Given the description of an element on the screen output the (x, y) to click on. 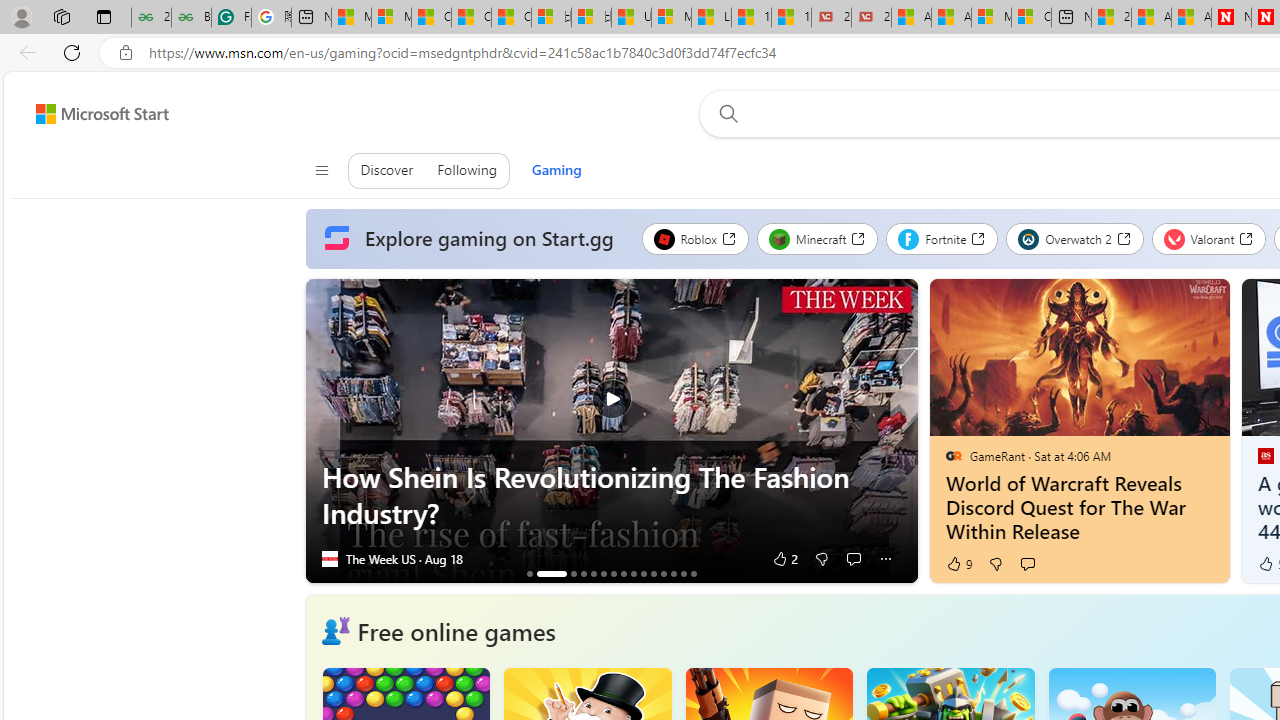
KingdomScape - Gameplay (673, 573)
Gaming (555, 170)
Next slide (902, 431)
Free AI Writing Assistance for Students | Grammarly (231, 17)
9 Like (958, 564)
Minecraft (817, 238)
Microsoft Services Agreement (991, 17)
15 Ways Modern Life Contradicts the Teachings of Jesus (791, 17)
